Given the description of an element on the screen output the (x, y) to click on. 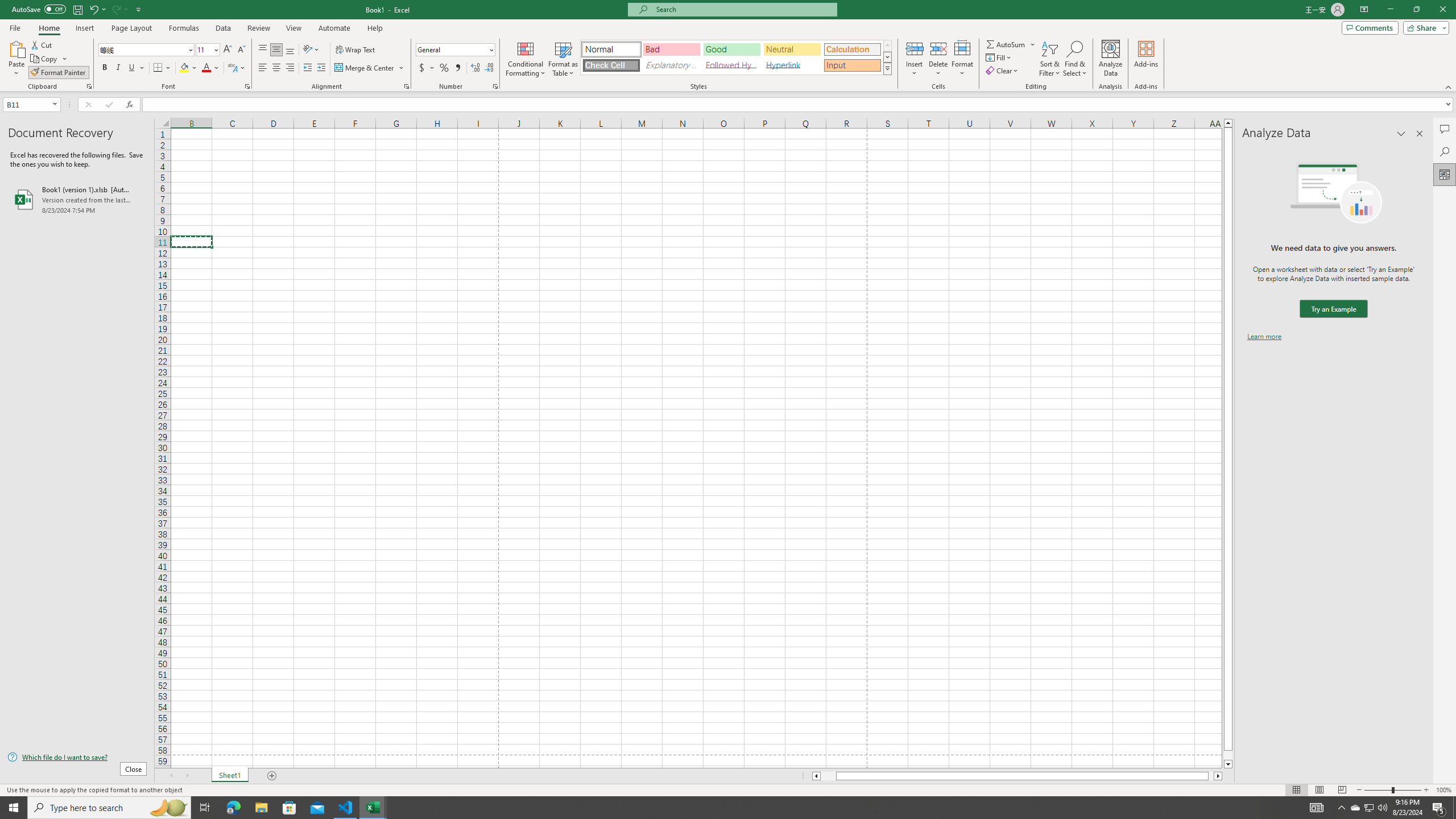
Copy (49, 58)
We need data to give you answers. Try an Example (1333, 308)
Increase Font Size (227, 49)
Followed Hyperlink (731, 65)
Number Format (455, 49)
Analyze Data (1444, 173)
Learn more (1264, 336)
